Given the description of an element on the screen output the (x, y) to click on. 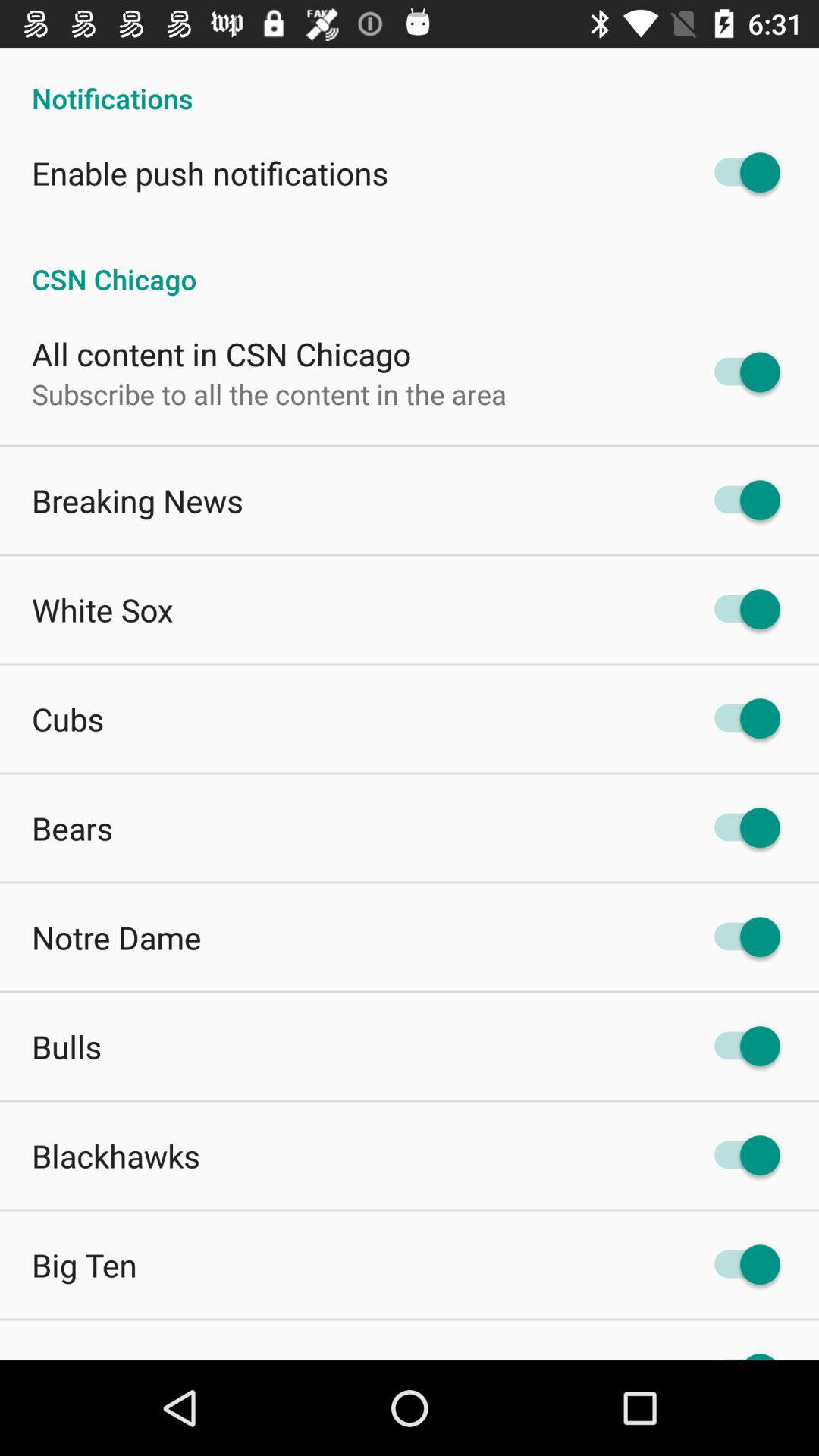
press the item below cubs app (72, 827)
